Given the description of an element on the screen output the (x, y) to click on. 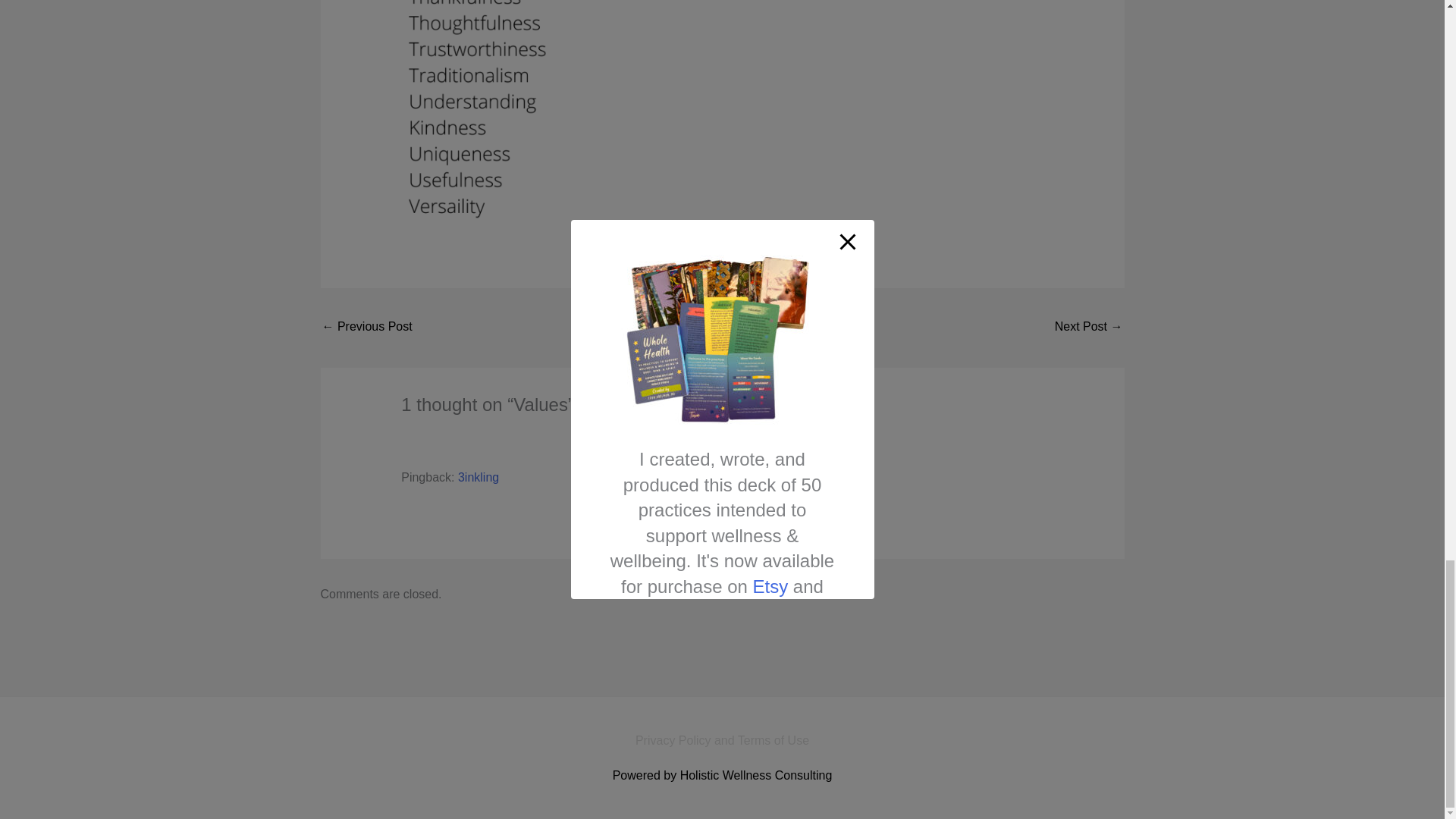
Tova Cake (1088, 327)
3inkling (478, 477)
Healthy Pumpkin Pie (366, 327)
Privacy Policy and Terms of Use (721, 739)
